Given the description of an element on the screen output the (x, y) to click on. 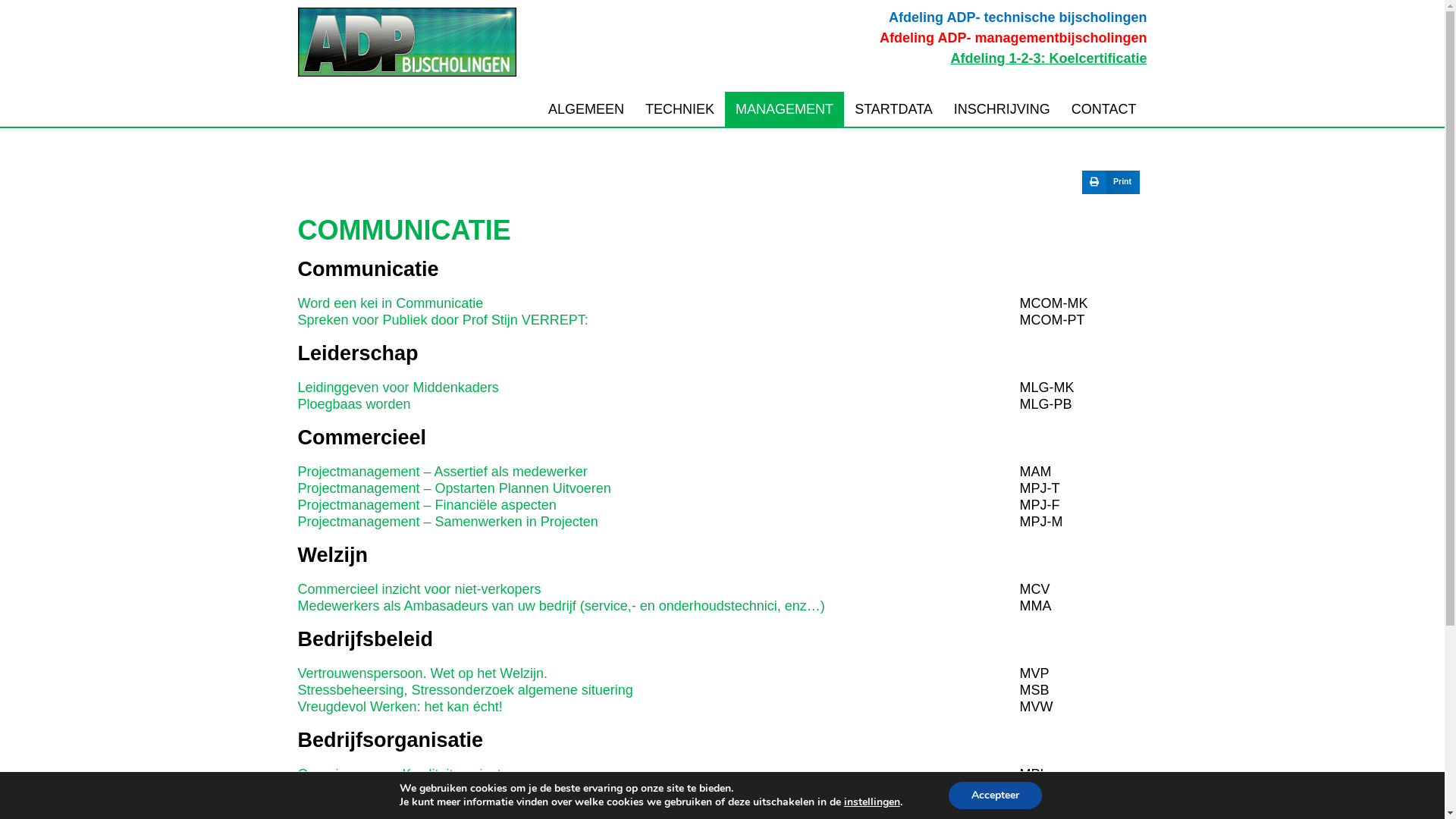
STARTDATA Element type: text (893, 108)
TECHNIEK Element type: text (679, 108)
MANAGEMENT Element type: text (784, 108)
Afdeling 1-2-3: Koelcertificatie Element type: text (1048, 57)
ALGEMEEN Element type: text (585, 108)
INSCHRIJVING Element type: text (1001, 108)
Accepteer Element type: text (994, 795)
instellingen Element type: text (872, 802)
CONTACT Element type: text (1103, 108)
